Given the description of an element on the screen output the (x, y) to click on. 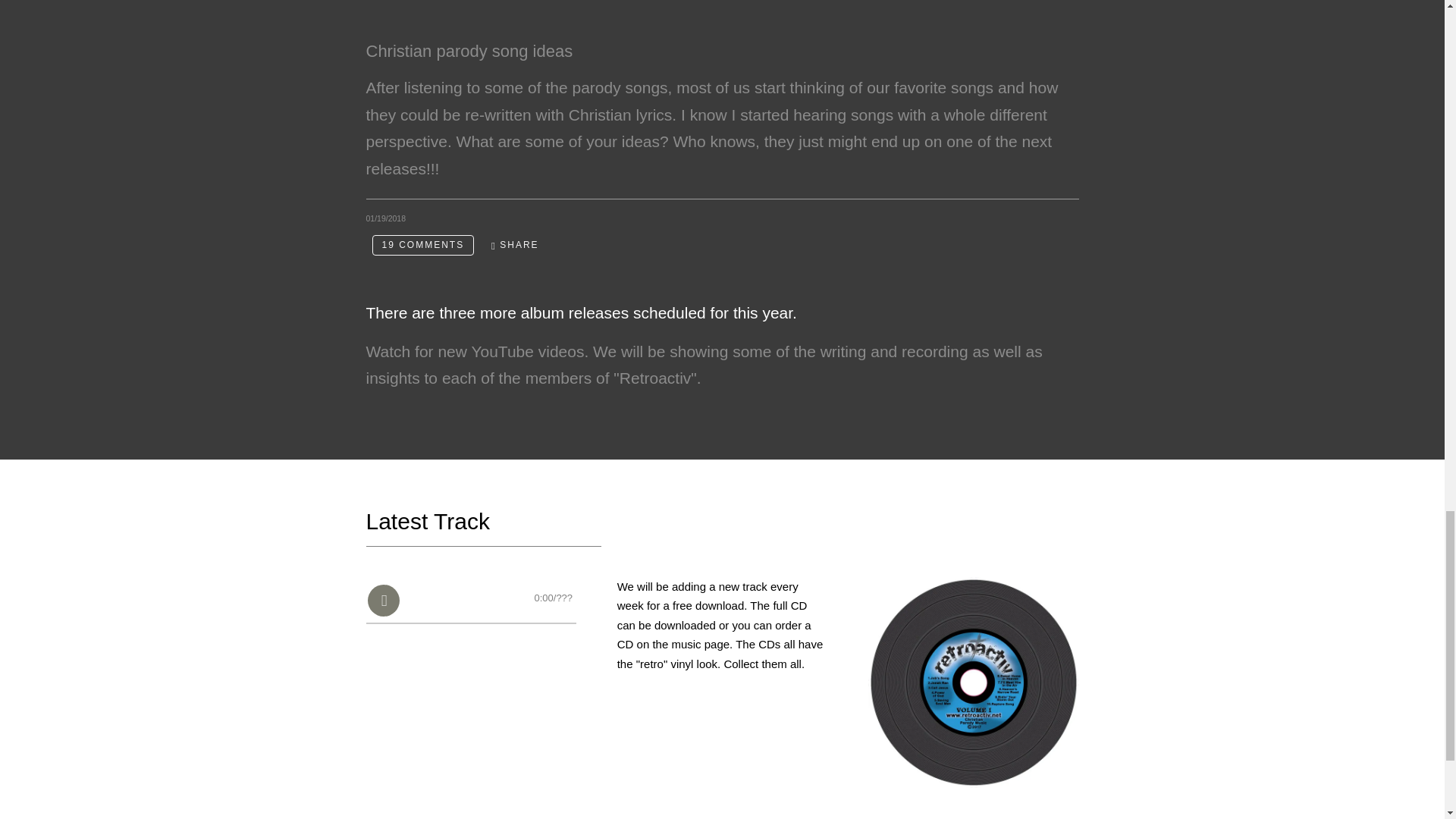
Christian parody song ideas (468, 50)
January 19, 2018 09:32 (385, 217)
19 COMMENTS (422, 245)
19 comments (422, 245)
SHARE (514, 244)
Share  Christian parody song ideas (514, 244)
